Given the description of an element on the screen output the (x, y) to click on. 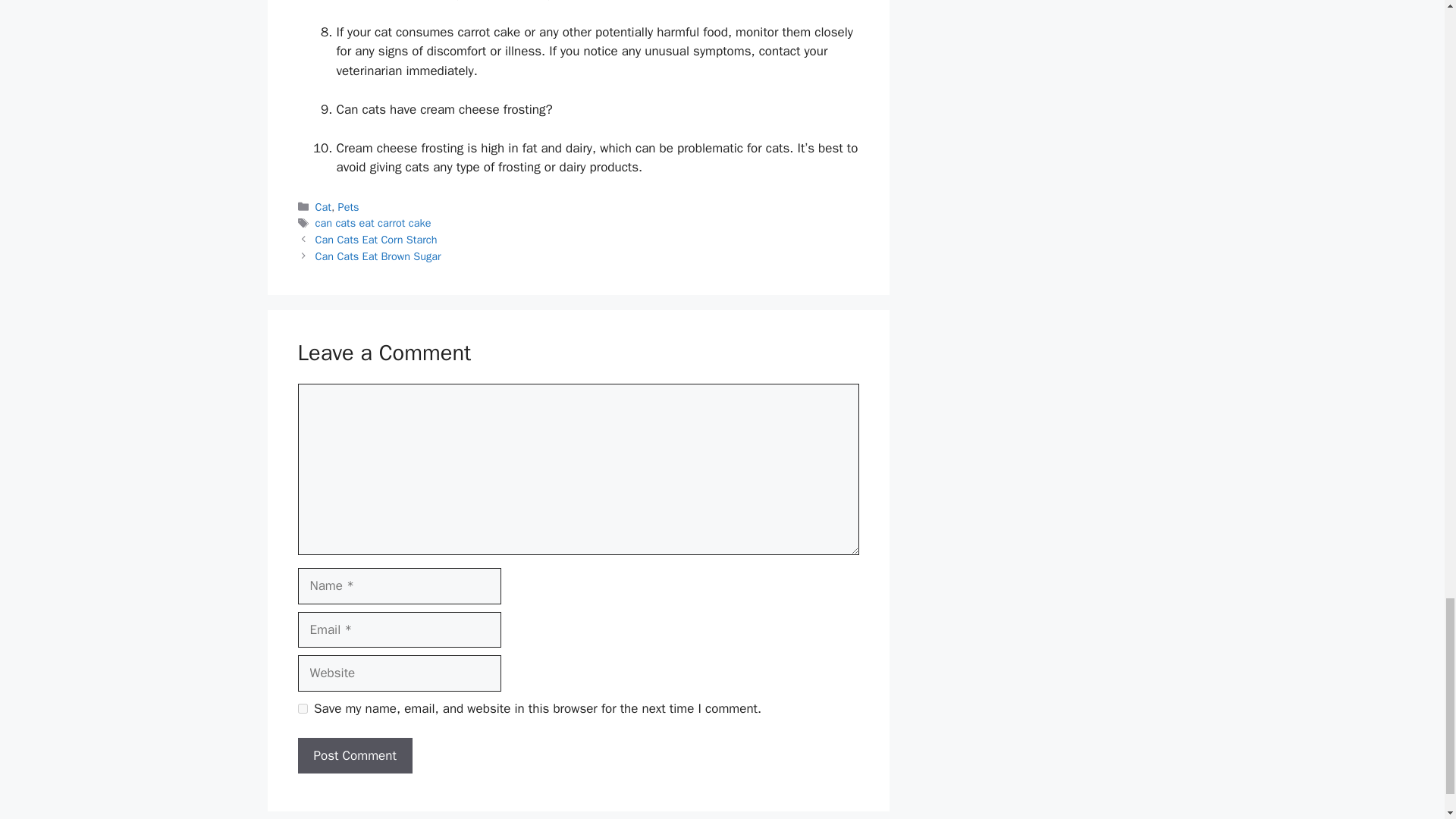
Can Cats Eat Brown Sugar (378, 255)
Pets (348, 206)
can cats eat carrot cake (372, 223)
yes (302, 708)
Post Comment (354, 755)
Post Comment (354, 755)
Can Cats Eat Corn Starch (376, 239)
Cat (323, 206)
